Given the description of an element on the screen output the (x, y) to click on. 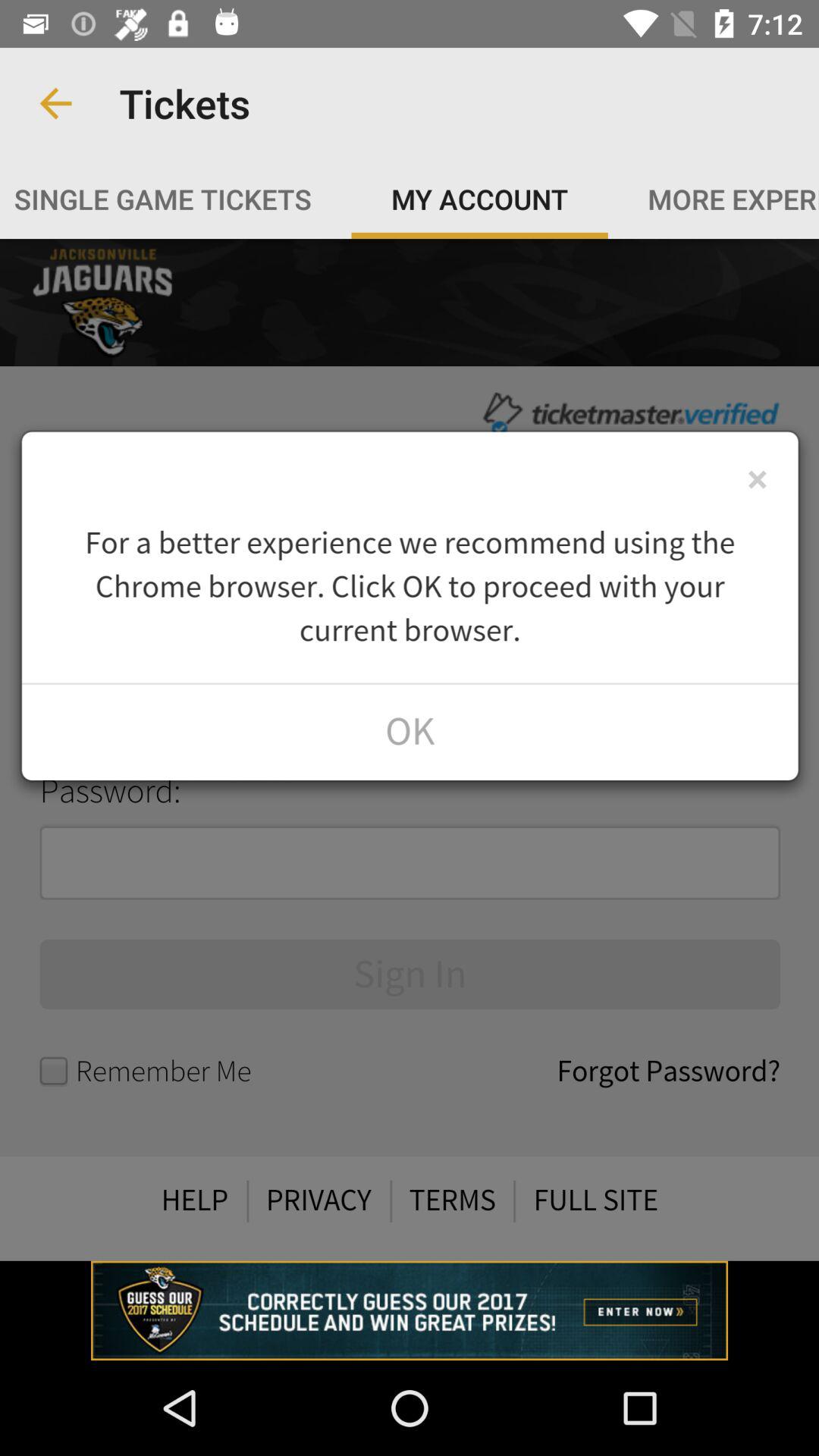
opens a advertisement (409, 1310)
